Given the description of an element on the screen output the (x, y) to click on. 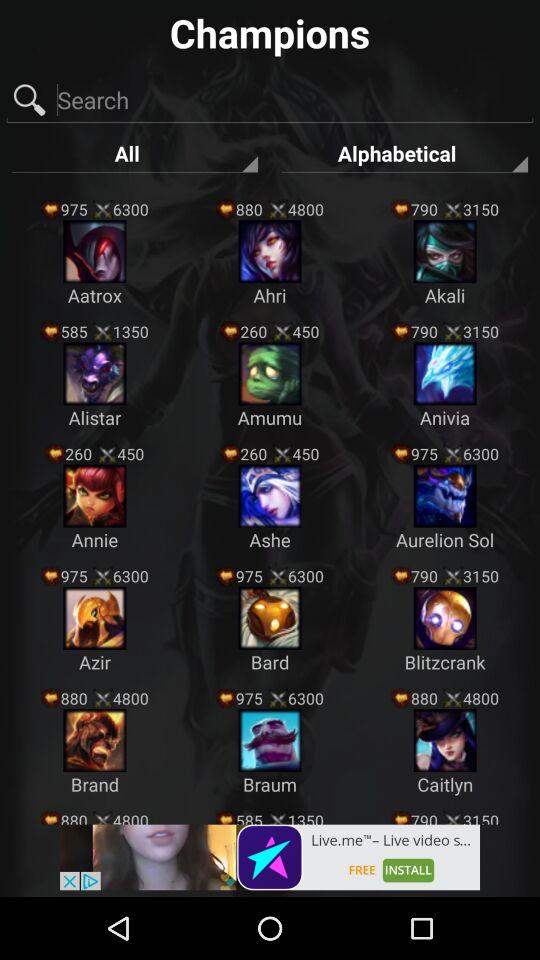
click advertisement (270, 857)
